Given the description of an element on the screen output the (x, y) to click on. 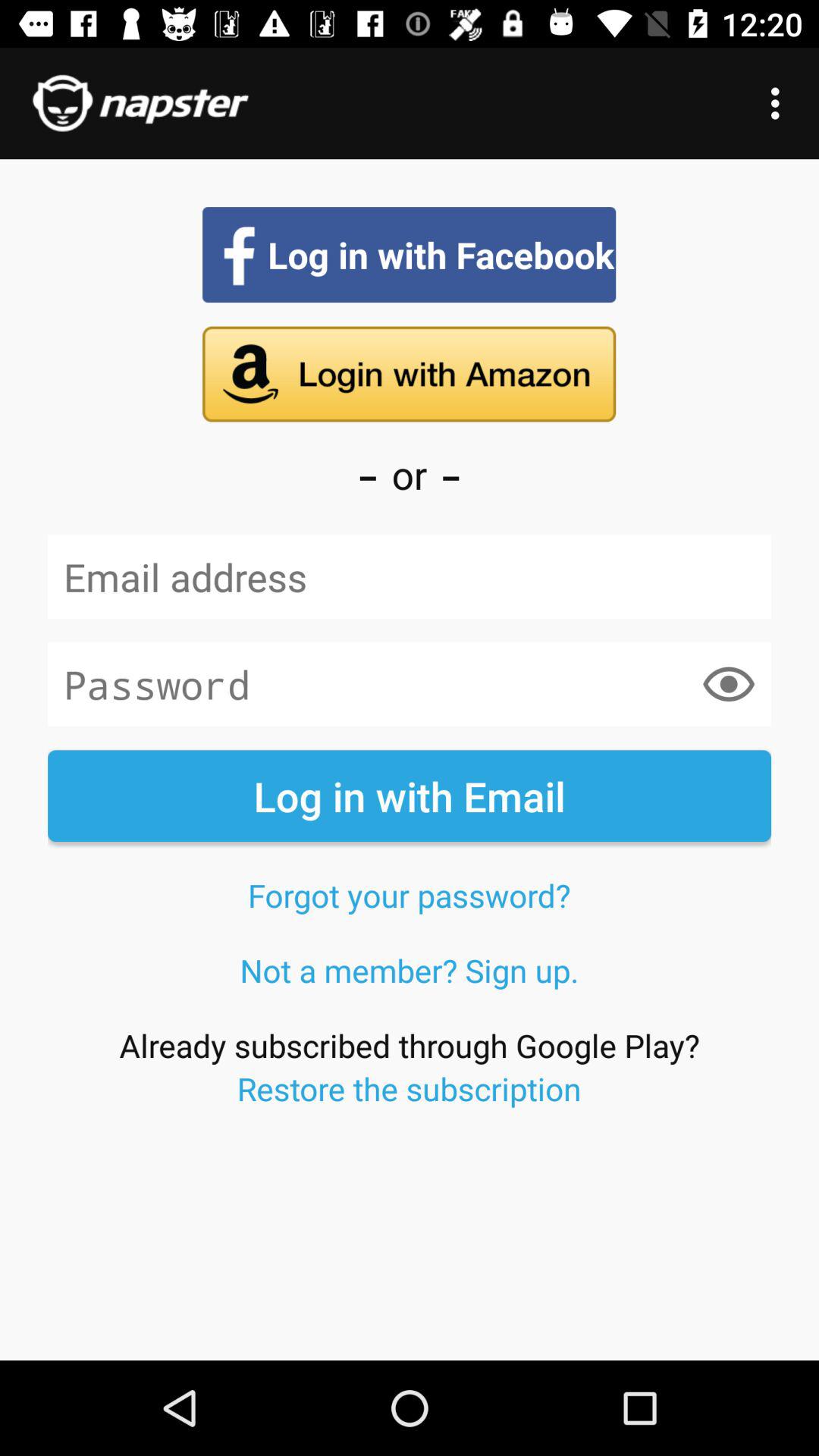
log in with facebook option (408, 254)
